Given the description of an element on the screen output the (x, y) to click on. 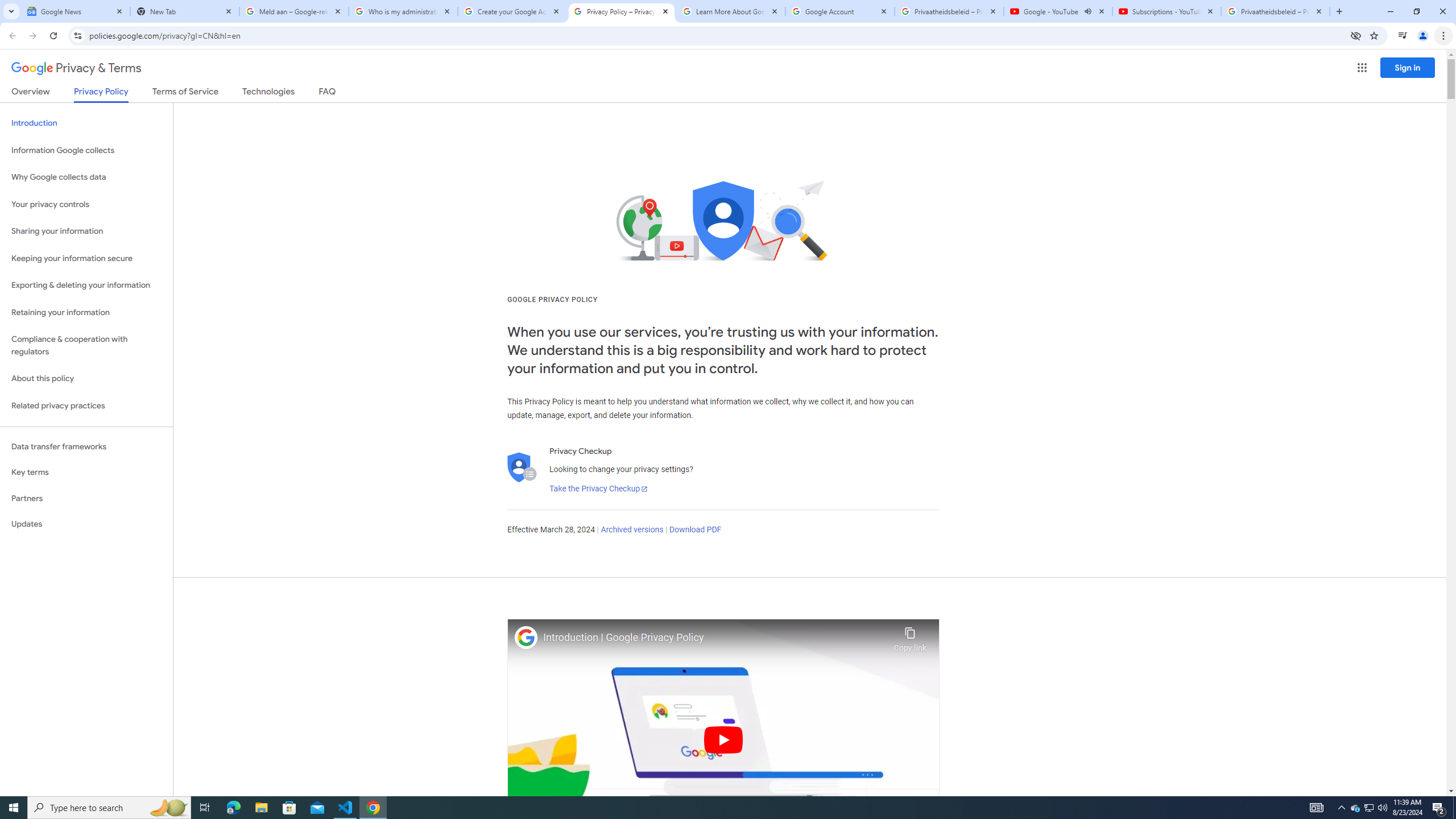
About this policy (86, 379)
Keeping your information secure (86, 258)
Compliance & cooperation with regulators (86, 345)
Archived versions (631, 529)
Download PDF (695, 529)
